Given the description of an element on the screen output the (x, y) to click on. 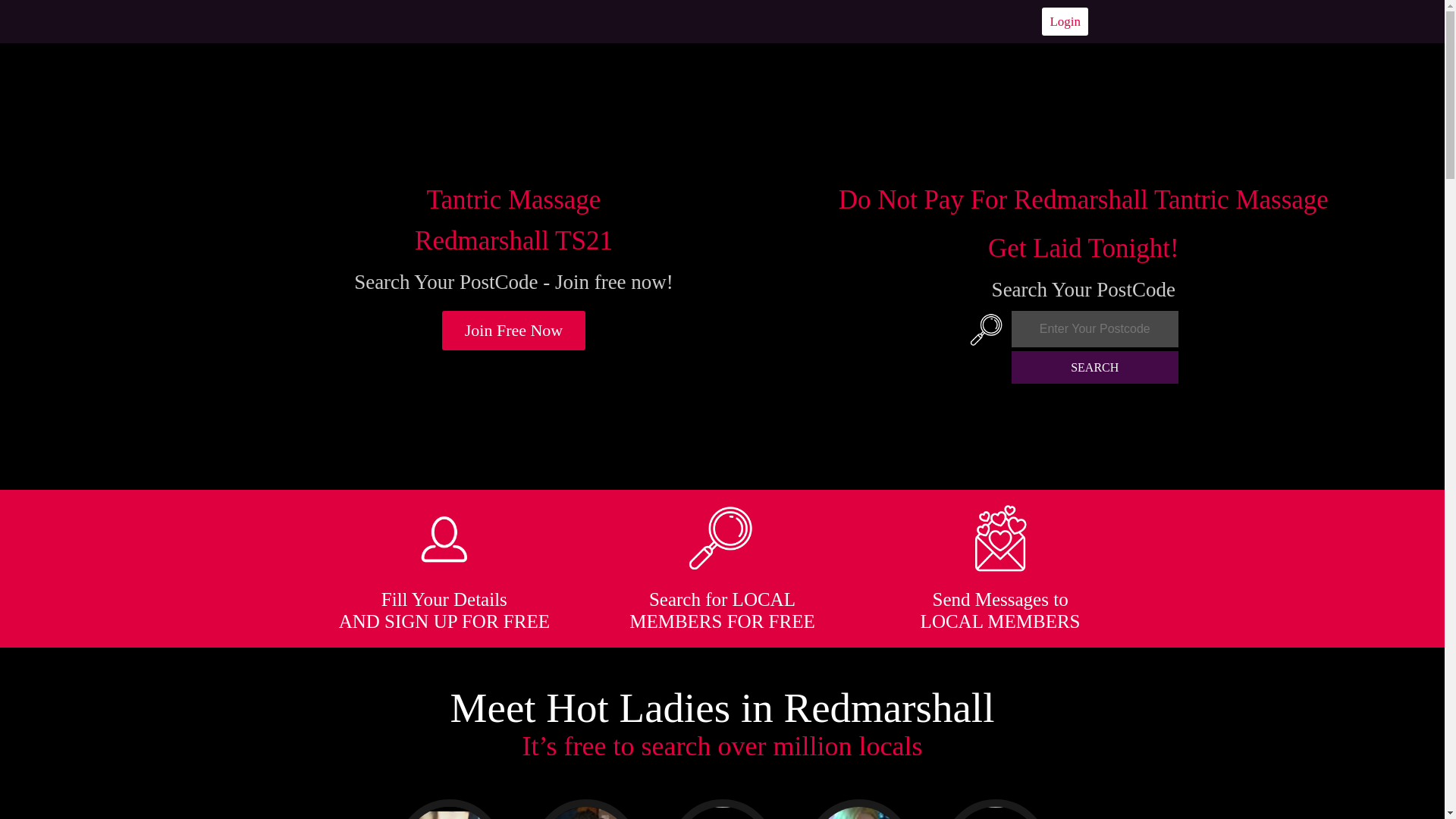
SEARCH (1094, 367)
Join (514, 330)
Login (1064, 21)
Login (1064, 21)
Join Free Now (514, 330)
